Given the description of an element on the screen output the (x, y) to click on. 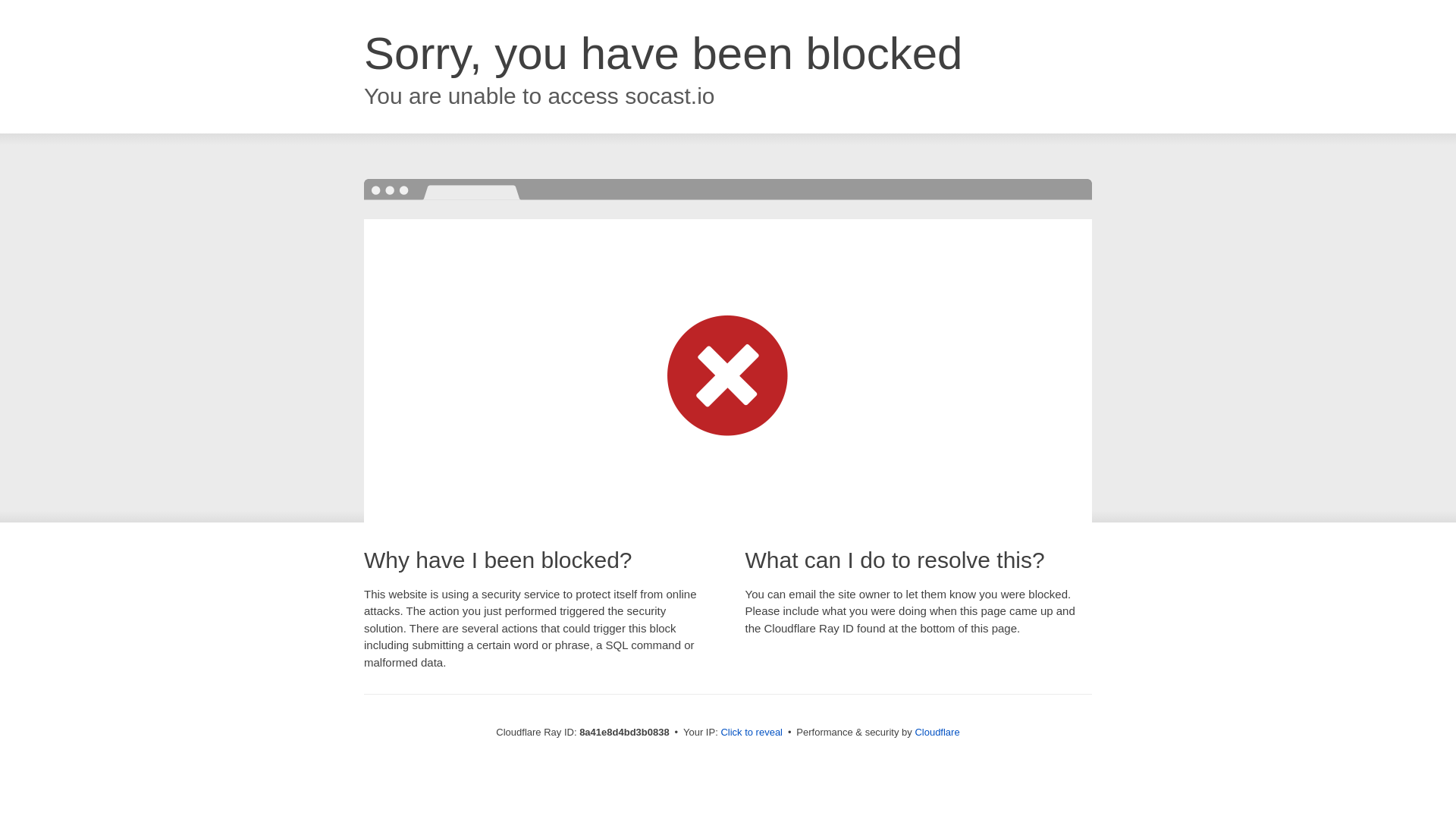
Click to reveal (751, 732)
Cloudflare (936, 731)
